Given the description of an element on the screen output the (x, y) to click on. 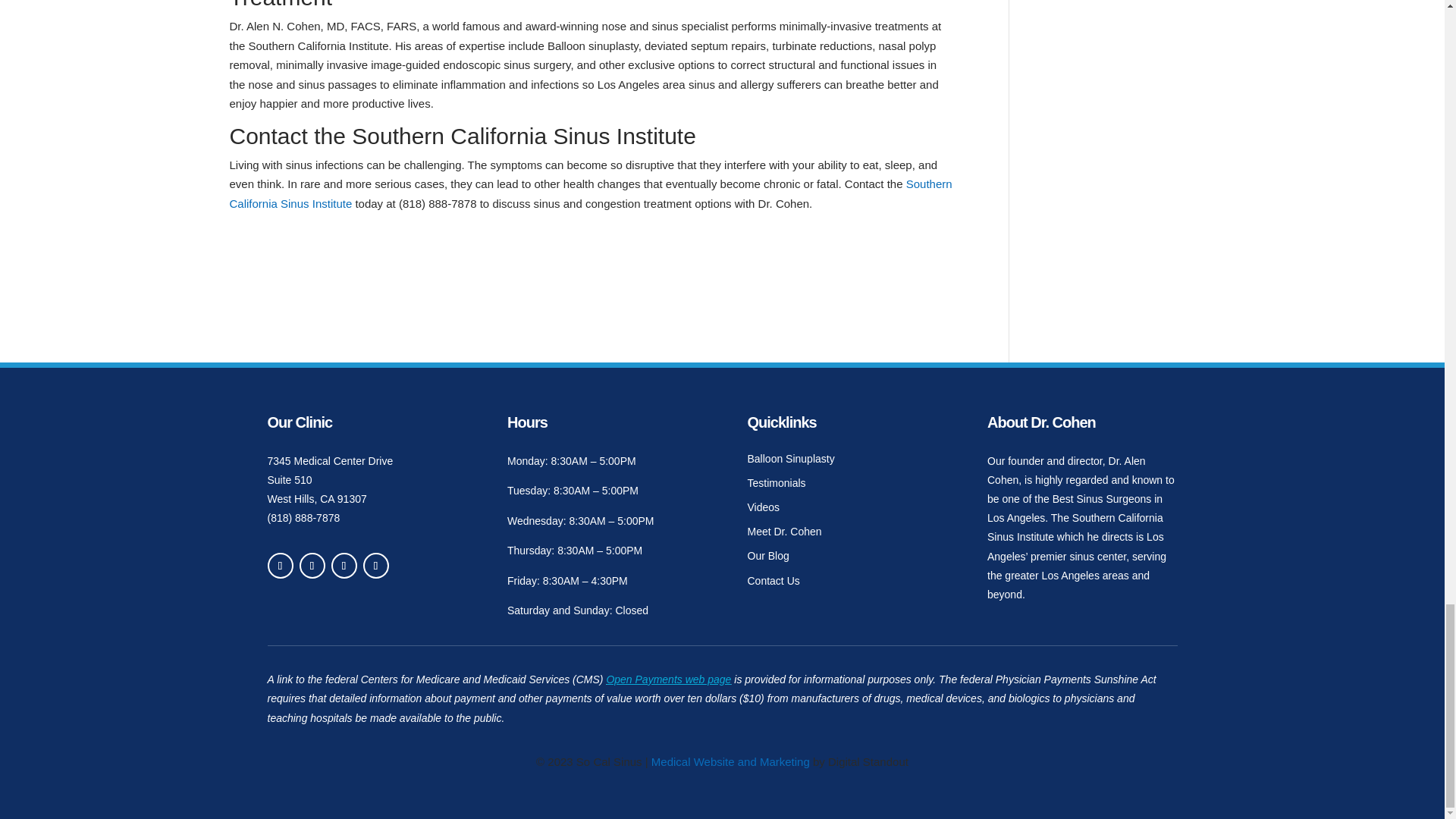
Follow on Instagram (375, 565)
Follow on Facebook (279, 565)
Follow on Youtube (343, 565)
Follow on LinkedIn (311, 565)
